Given the description of an element on the screen output the (x, y) to click on. 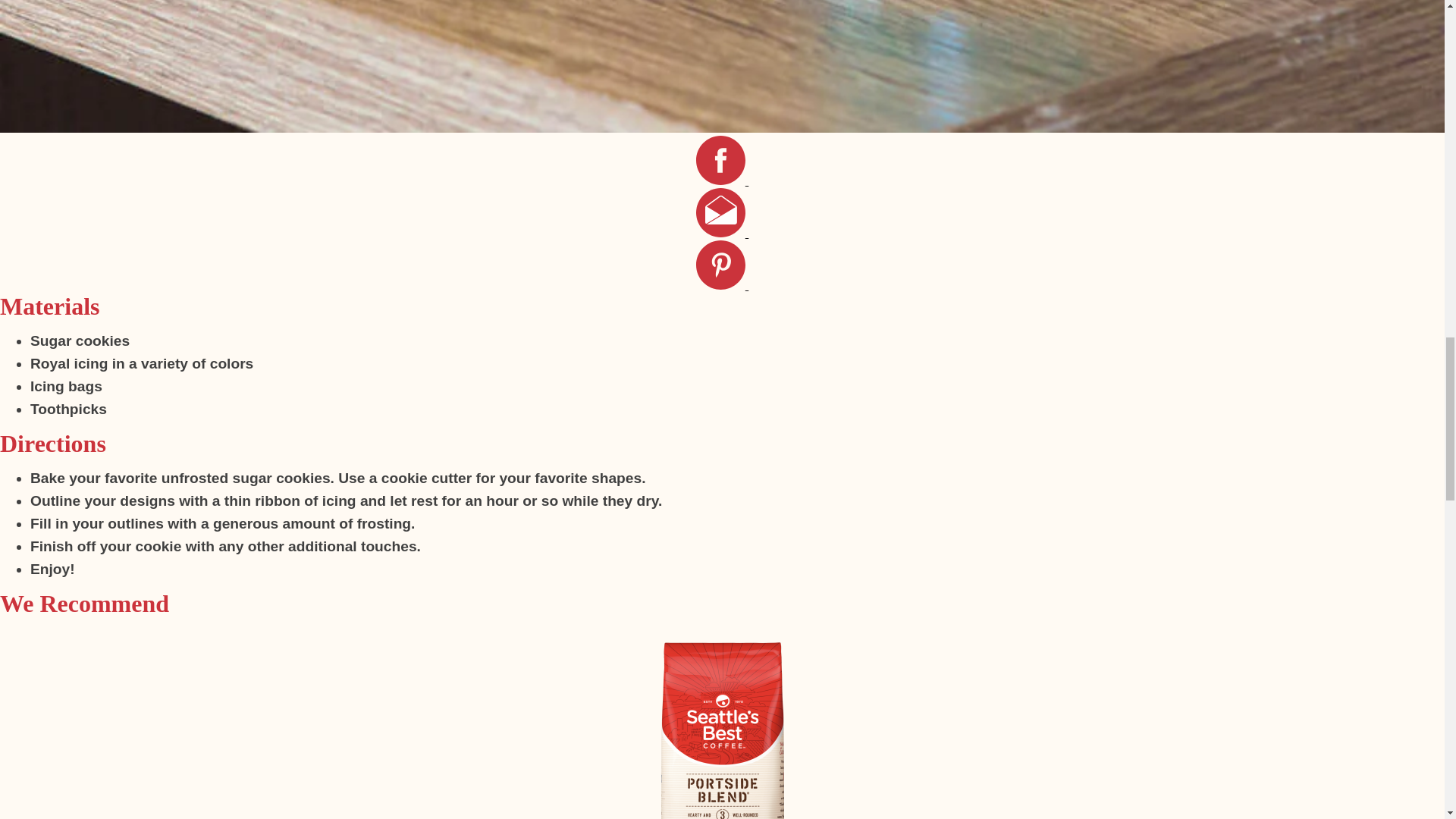
Share on Facebook (721, 180)
Share through email (721, 232)
Share on Facebook (721, 180)
Share on Pinterest (721, 285)
Share on Pinterest (721, 285)
Share through email (721, 232)
